Given the description of an element on the screen output the (x, y) to click on. 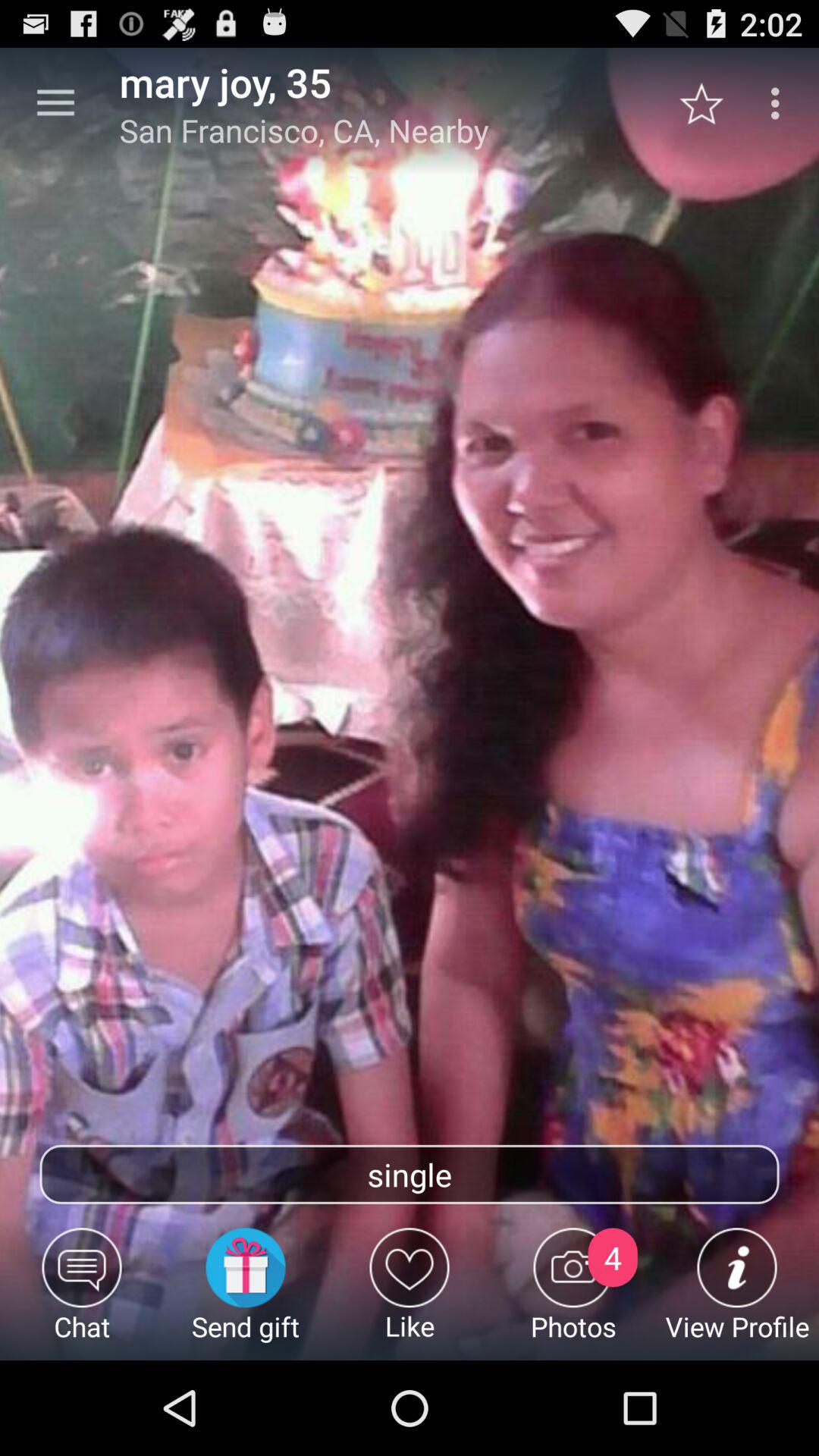
turn on item to the right of like (573, 1293)
